Given the description of an element on the screen output the (x, y) to click on. 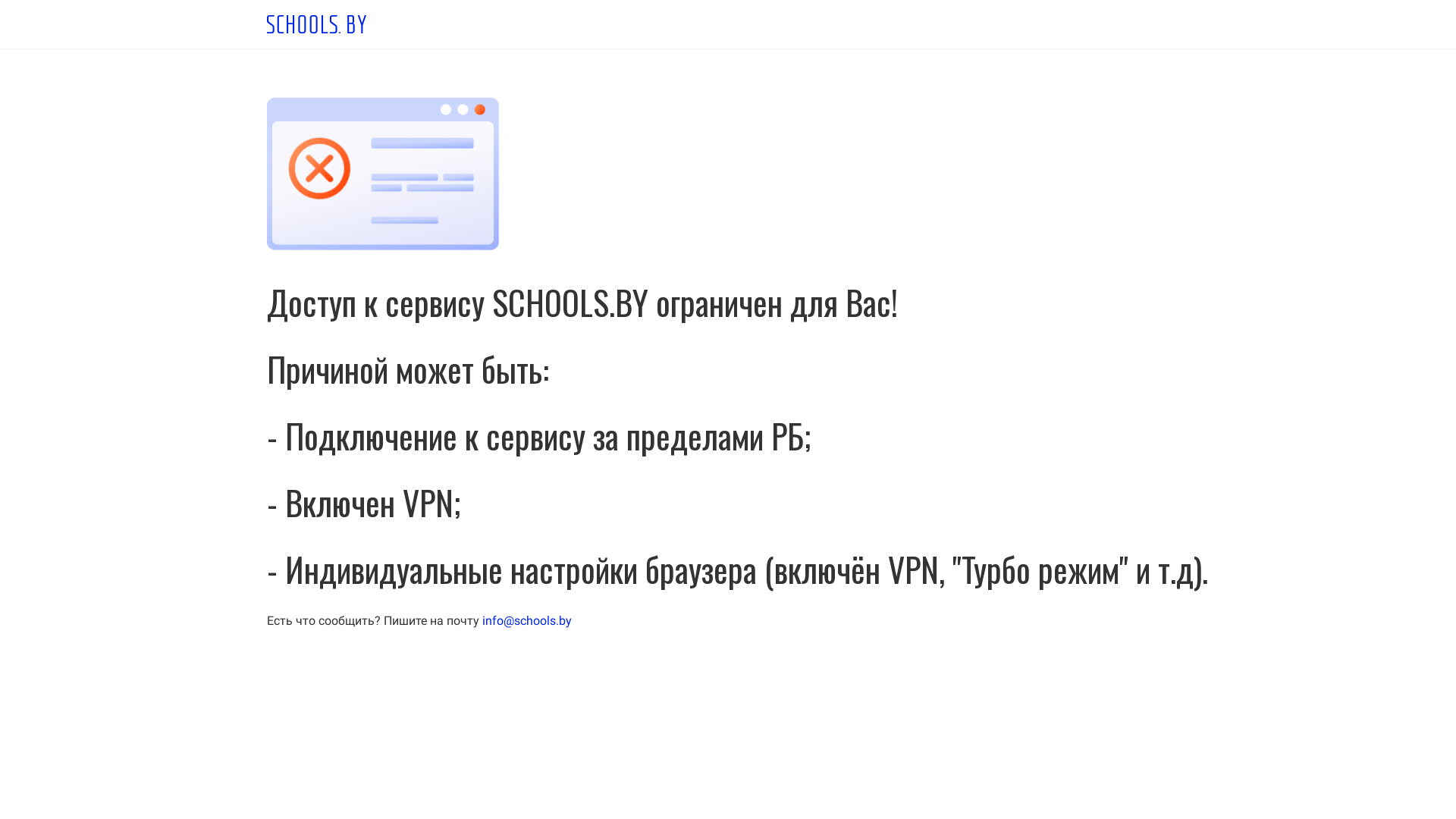
info@schools.by Element type: text (526, 620)
